Given the description of an element on the screen output the (x, y) to click on. 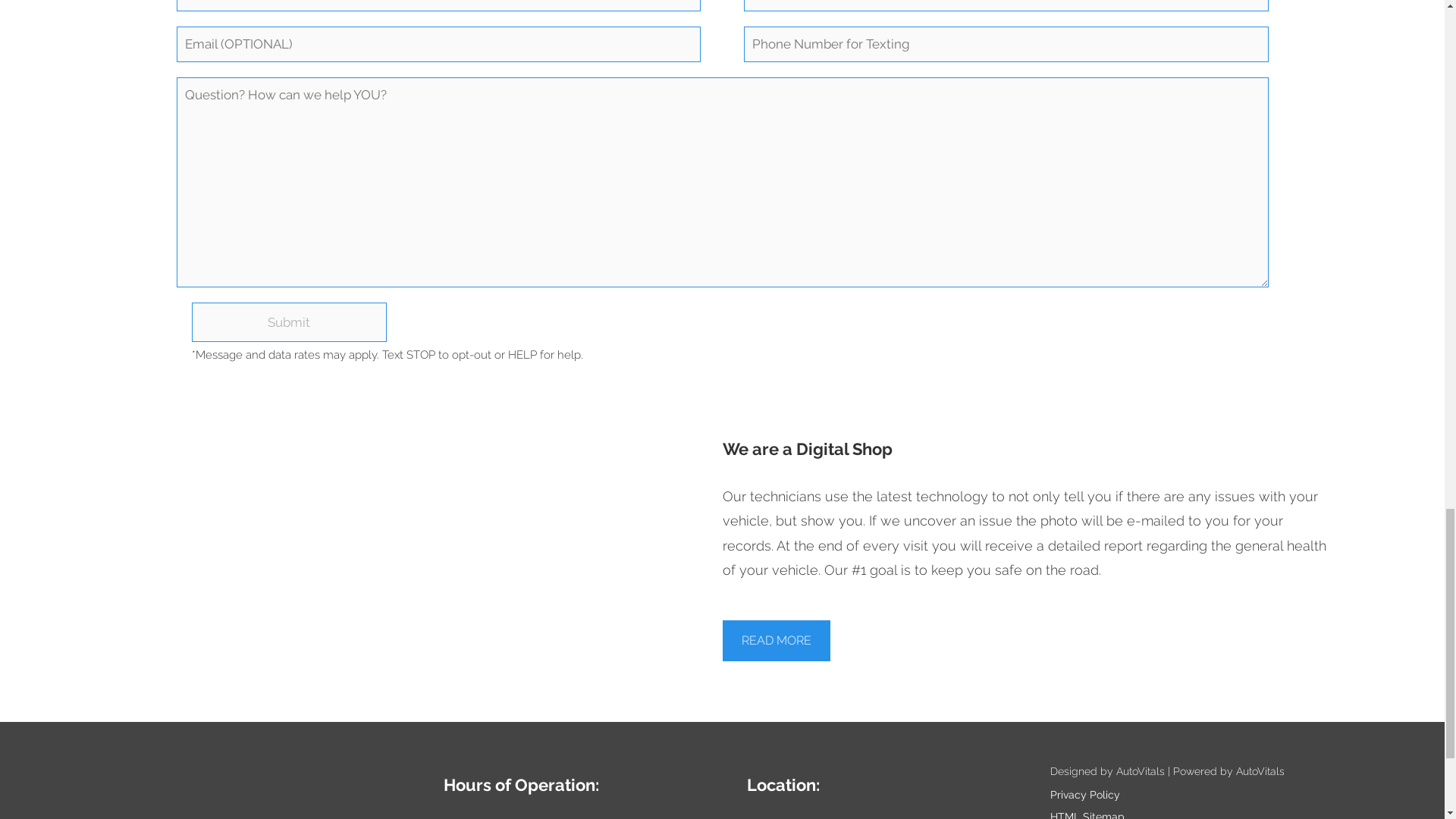
Submit (287, 322)
